Given the description of an element on the screen output the (x, y) to click on. 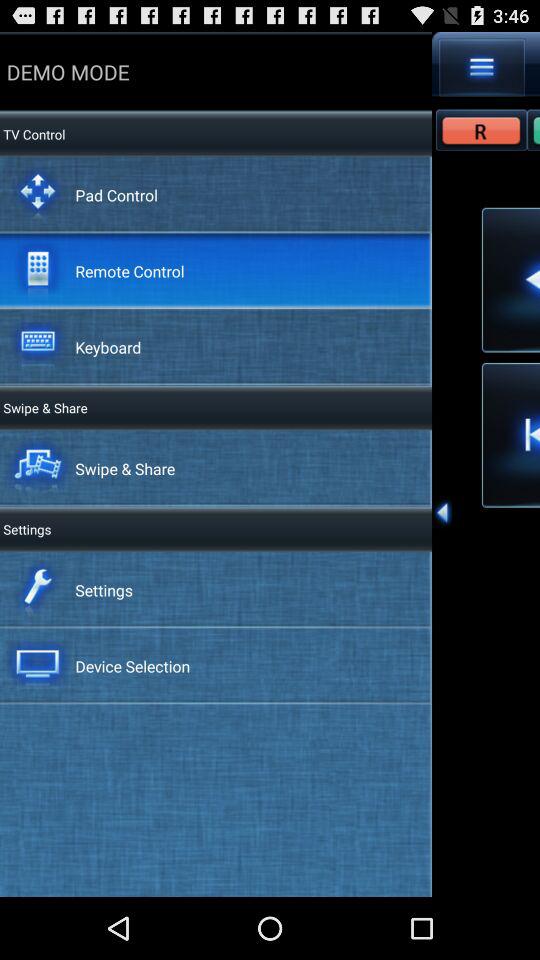
flip until device selection (132, 665)
